Given the description of an element on the screen output the (x, y) to click on. 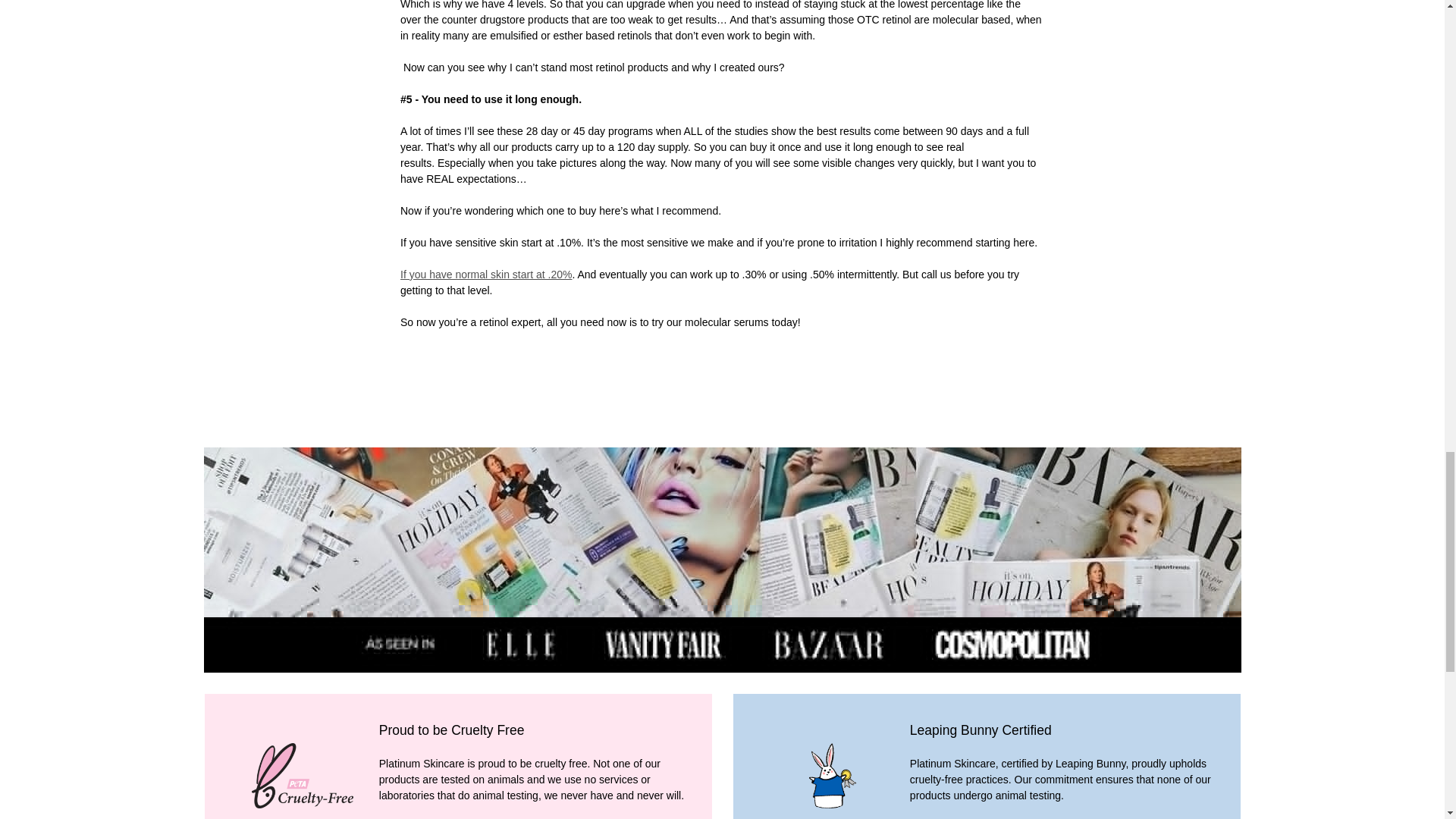
Retinol Molecular Serums 10 - 20 - 30 - 50 (486, 274)
Peta Cruelty Free (302, 775)
